Given the description of an element on the screen output the (x, y) to click on. 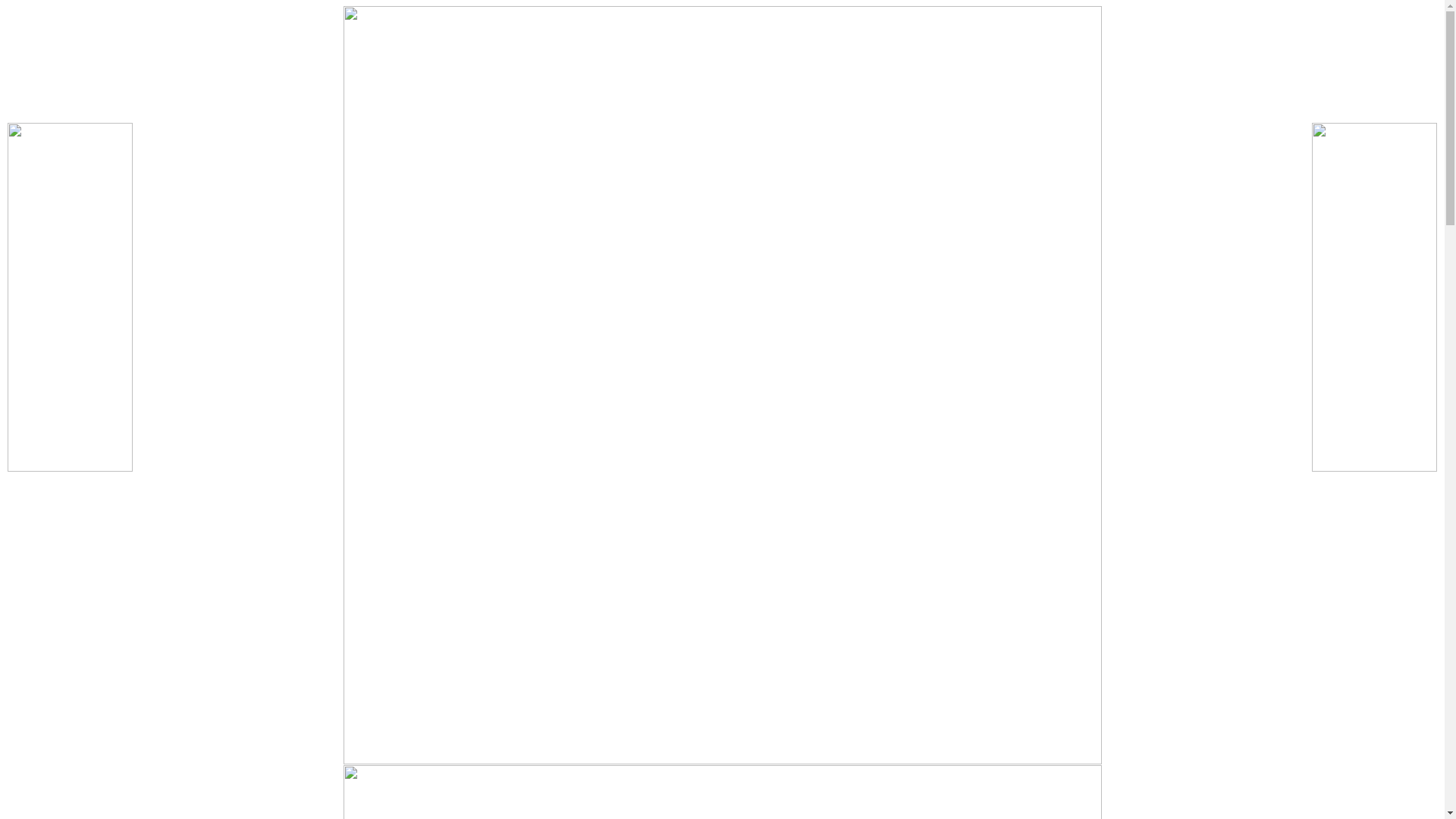
EPM Talk Ep. 57 - Meet EPM's JD Landon Element type: hover (1003, 696)
